Given the description of an element on the screen output the (x, y) to click on. 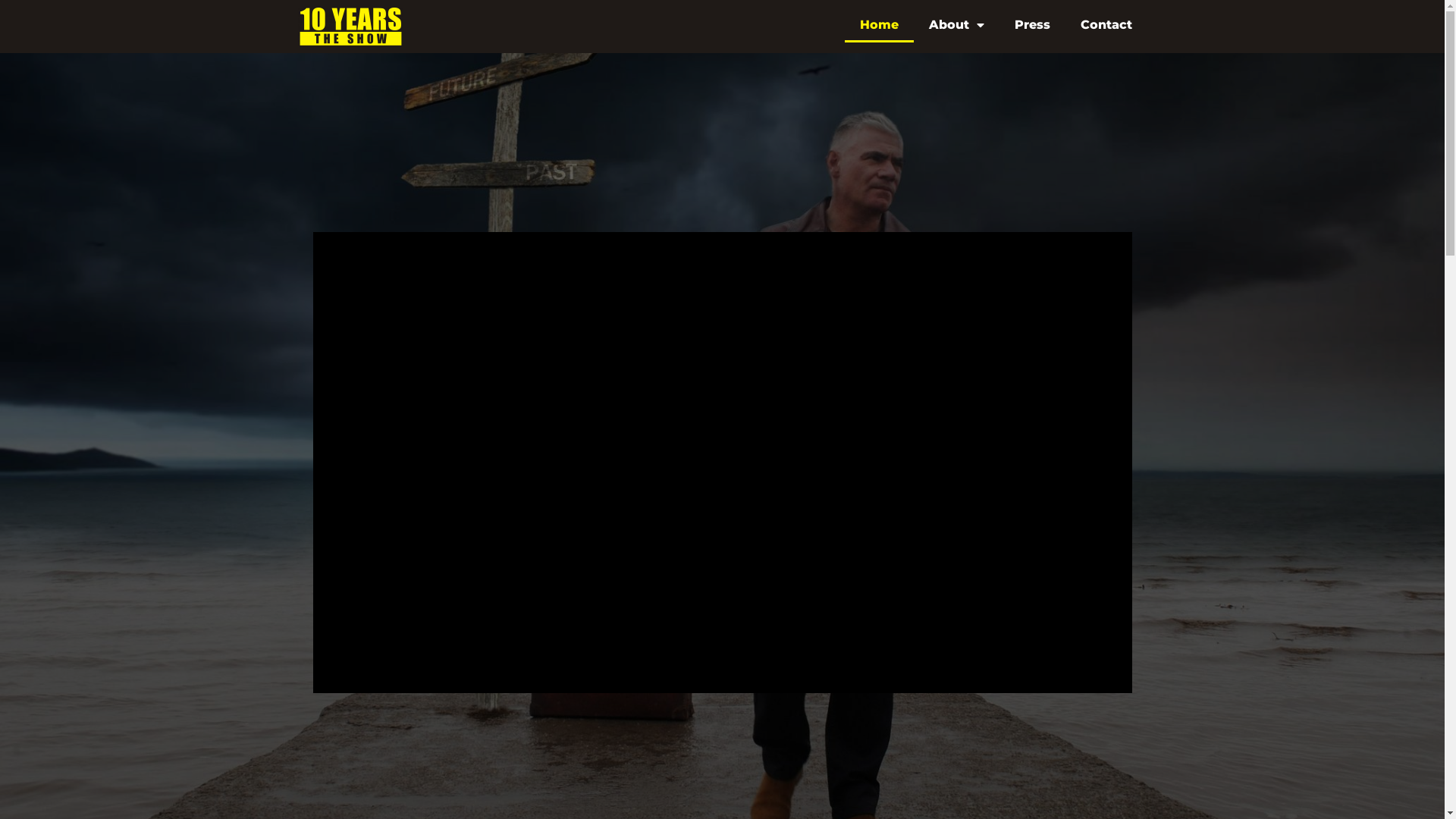
About Element type: text (955, 24)
Contact Element type: text (1105, 24)
10Years-HeaderLogoAlpha Element type: hover (349, 26)
Press Element type: text (1032, 24)
Home Element type: text (878, 24)
youtube Video Player Element type: hover (721, 462)
